Given the description of an element on the screen output the (x, y) to click on. 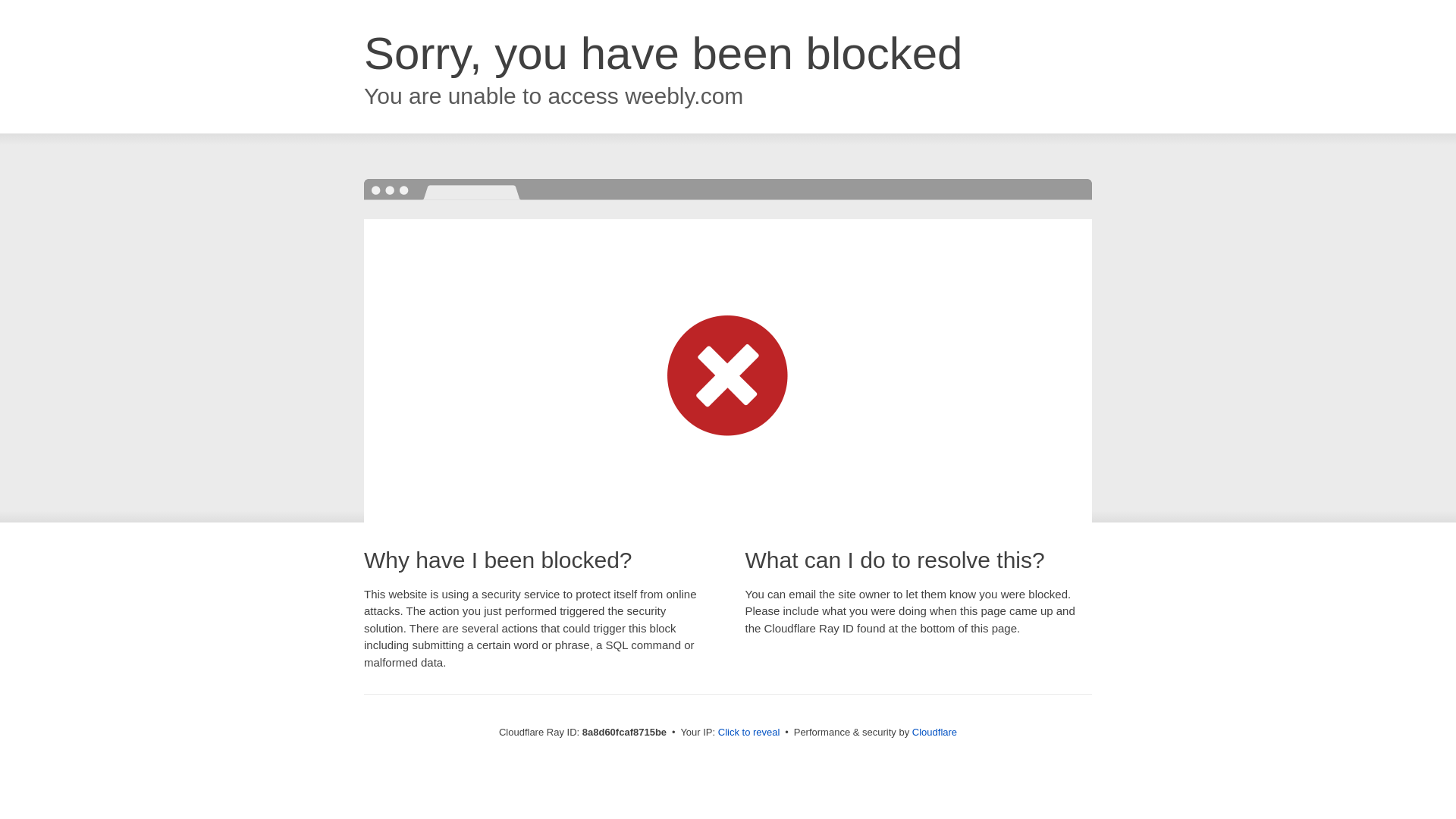
Cloudflare (934, 731)
Click to reveal (748, 732)
